Given the description of an element on the screen output the (x, y) to click on. 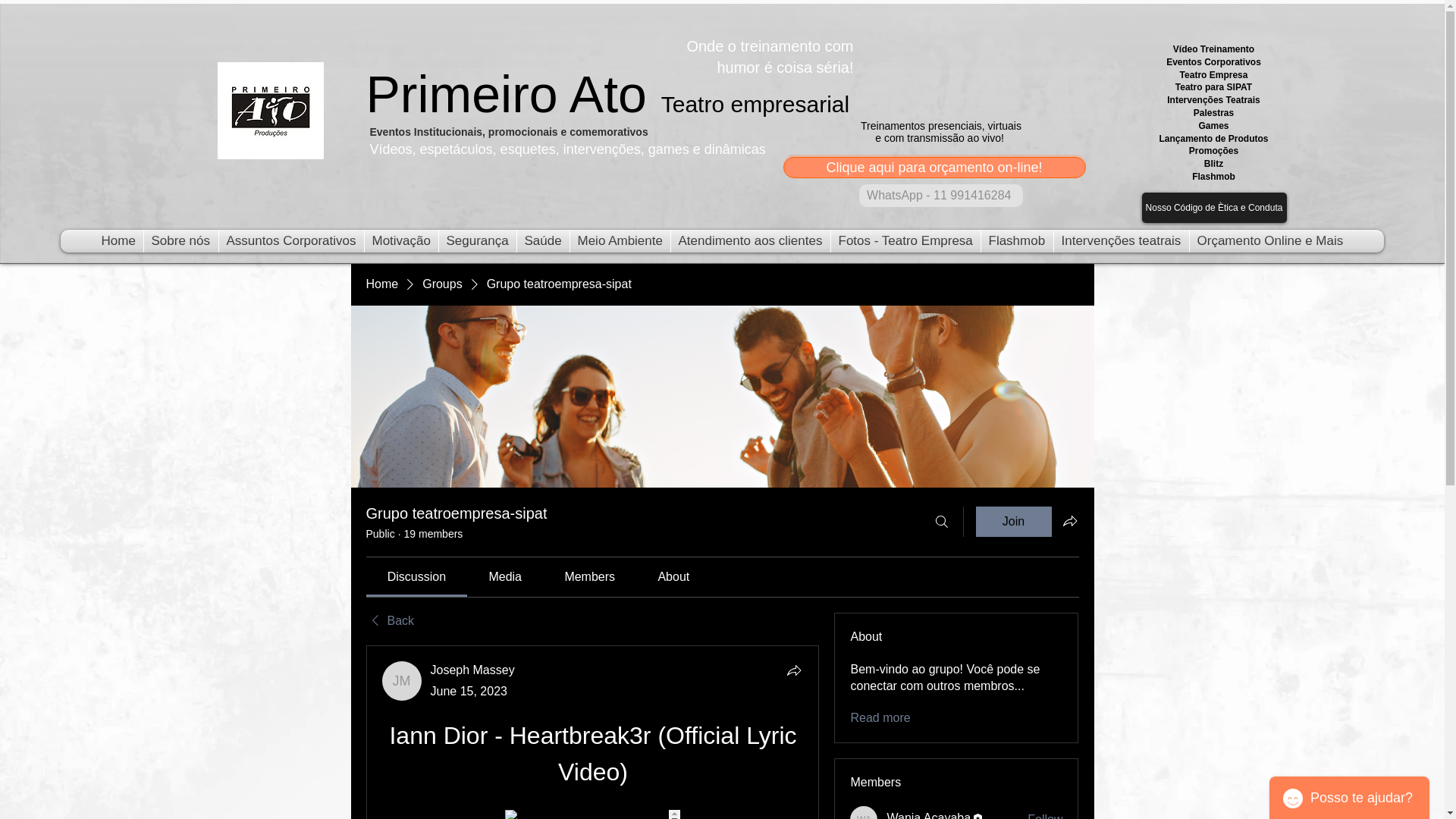
Atendimento aos clientes (749, 241)
remote content (592, 814)
Joseph Massey (472, 669)
Wania Acayaba (863, 812)
Wania Acayaba (928, 814)
Home (118, 241)
Flashmob (1016, 241)
Join (1013, 521)
Meio Ambiente (619, 241)
Groups (441, 284)
